Given the description of an element on the screen output the (x, y) to click on. 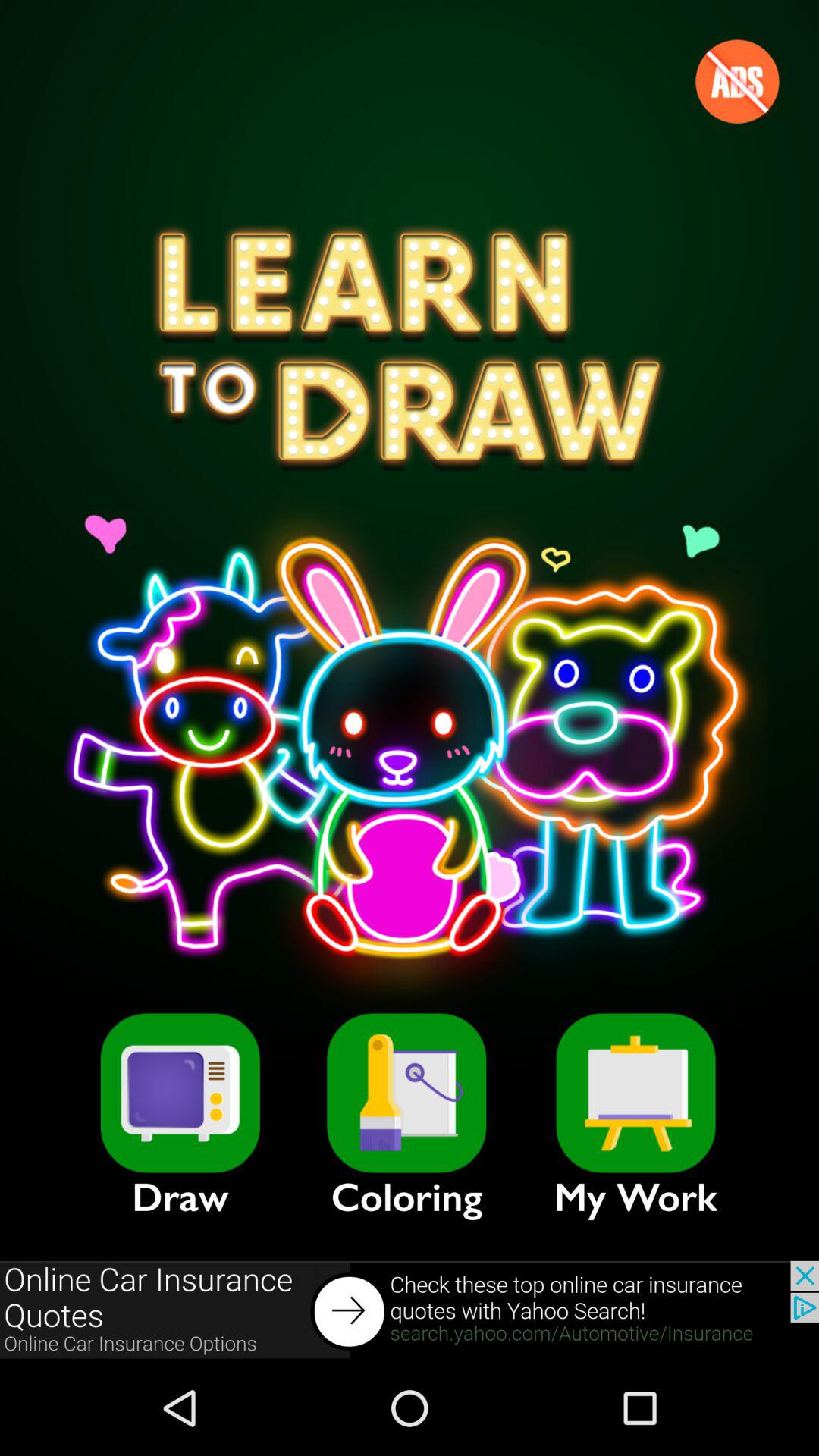
select icon below the draw item (409, 1310)
